Given the description of an element on the screen output the (x, y) to click on. 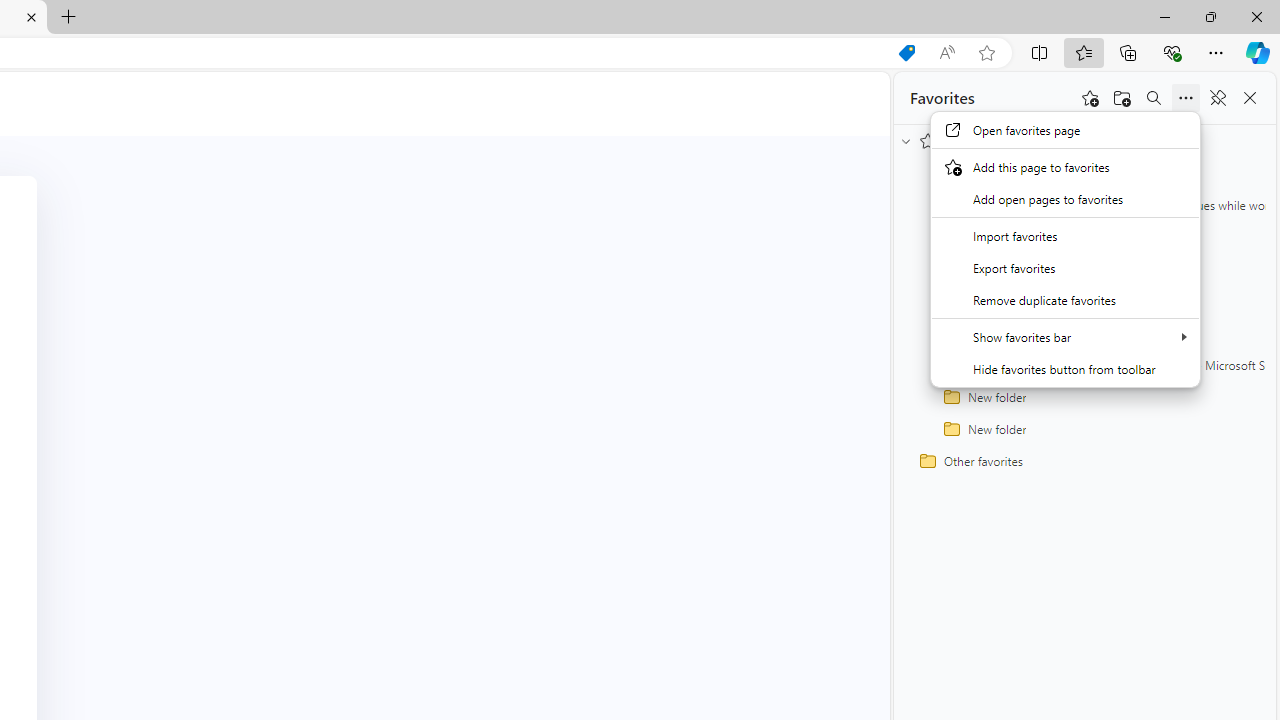
Remove duplicate favorites (1065, 299)
Search favorites (1153, 98)
Context (1065, 261)
Add this page to favorites (1065, 166)
Unpin favorites (1217, 98)
Show favorites bar (1065, 336)
Close favorites (1250, 98)
